Given the description of an element on the screen output the (x, y) to click on. 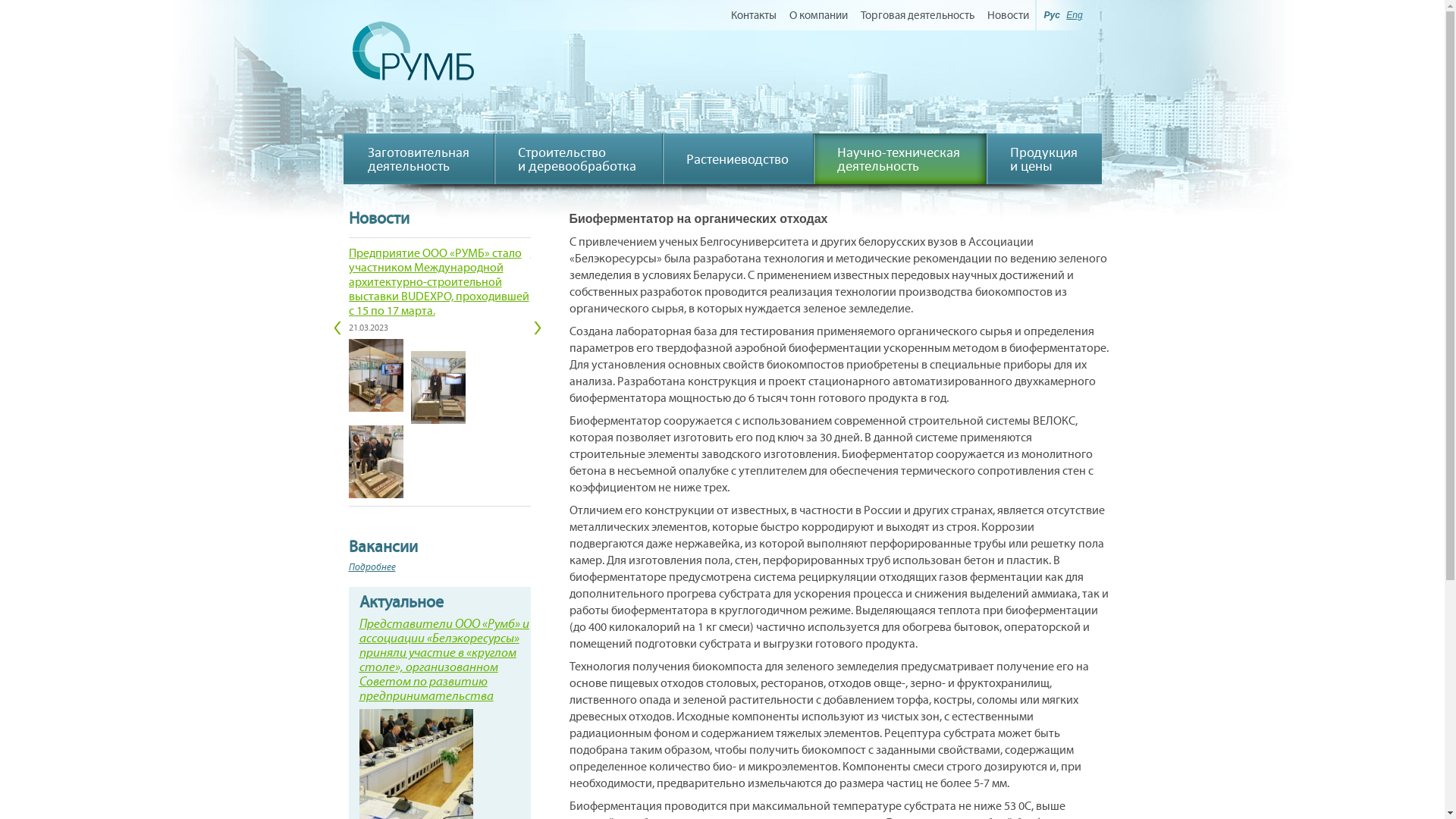
Eng Element type: text (1073, 14)
